Given the description of an element on the screen output the (x, y) to click on. 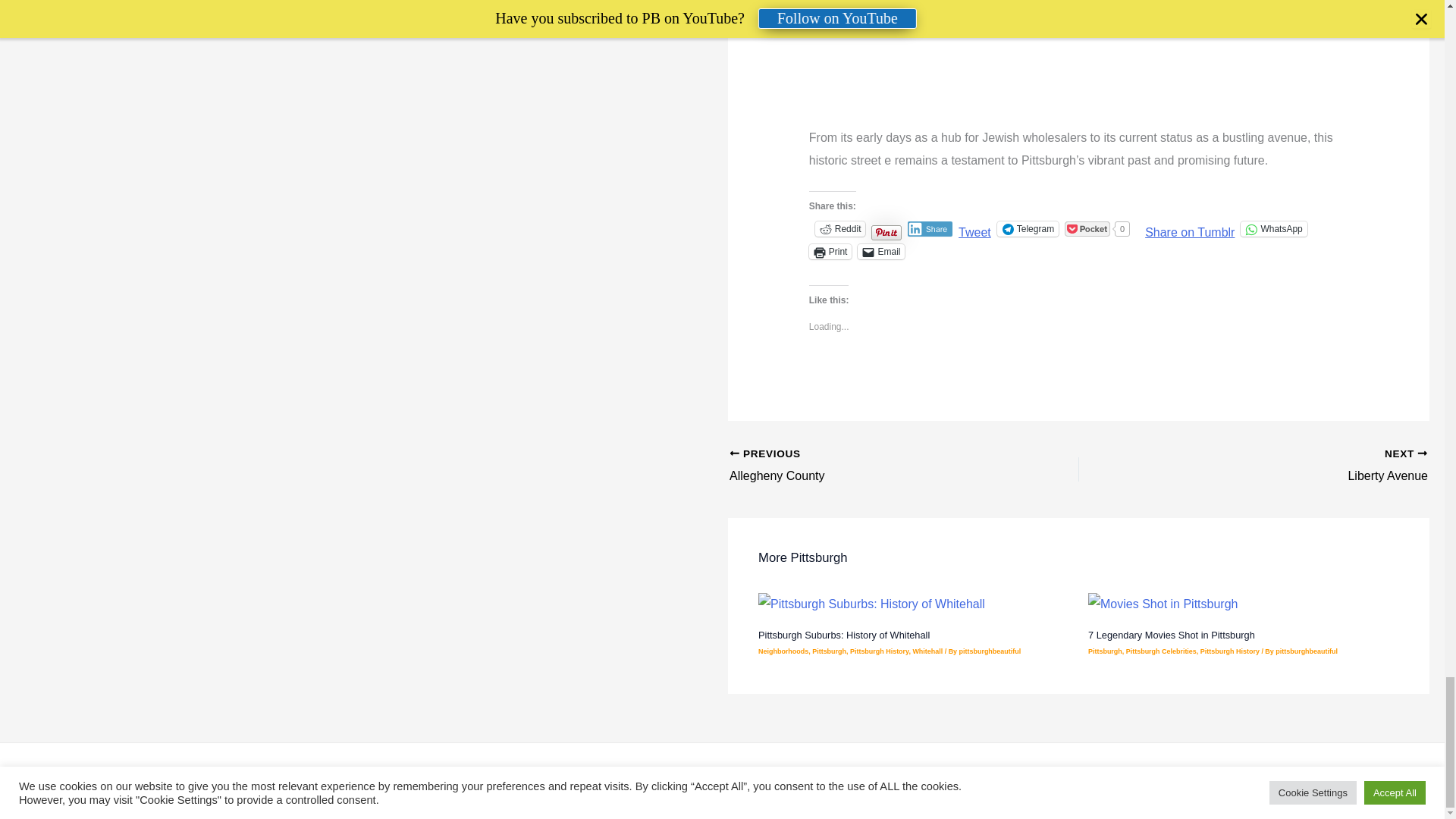
Click to share on WhatsApp (1273, 228)
Liberty Avenue (1287, 466)
Allegheny County (869, 466)
Click to share on Telegram (1027, 228)
Click to email a link to a friend (880, 251)
Click to print (830, 251)
Share on Tumblr (1189, 228)
Click to share on Reddit (840, 228)
View all posts by pittsburghbeautiful (990, 651)
